Given the description of an element on the screen output the (x, y) to click on. 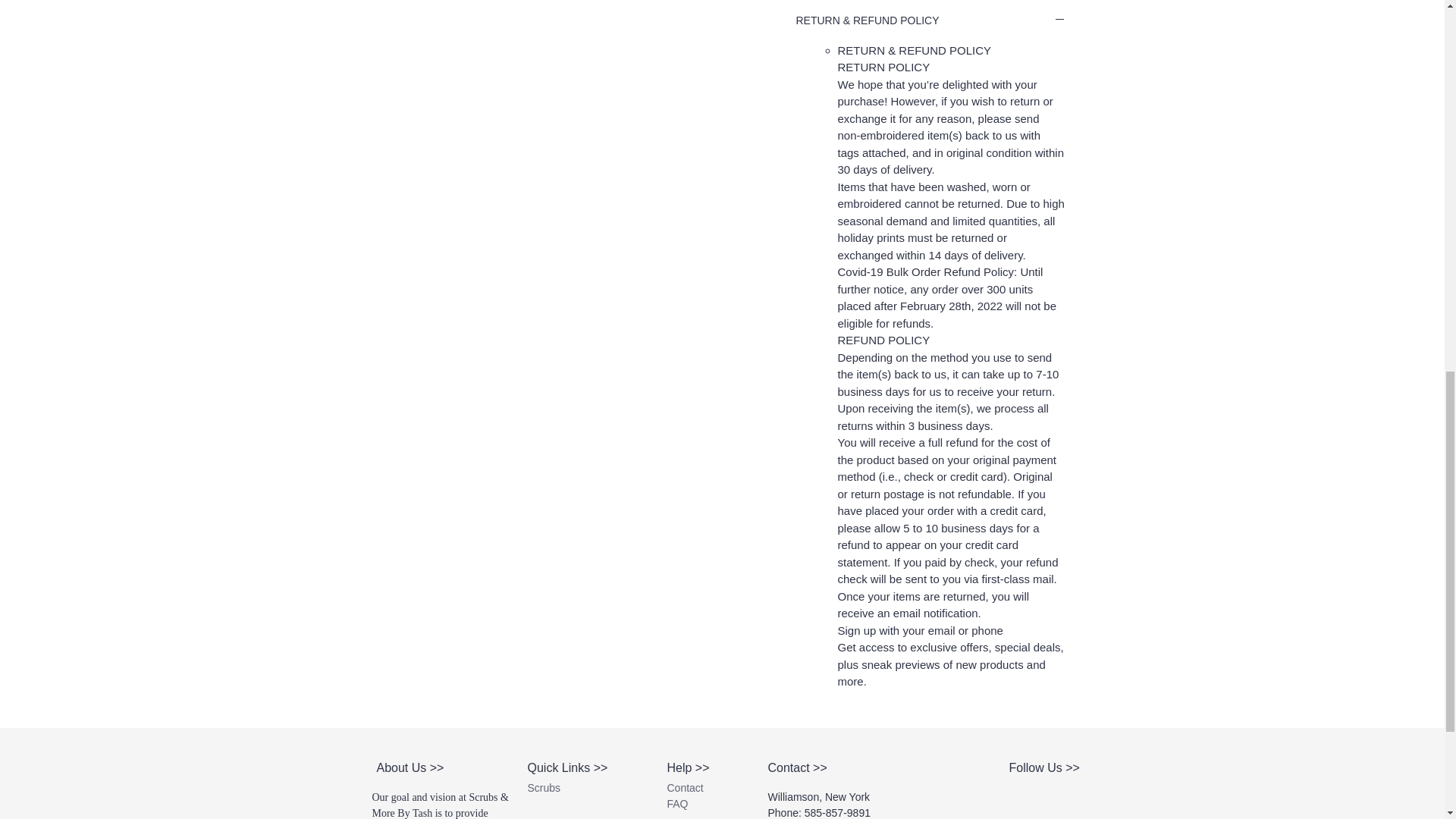
FAQ (677, 803)
Scrubs (543, 787)
Contact (684, 787)
